Given the description of an element on the screen output the (x, y) to click on. 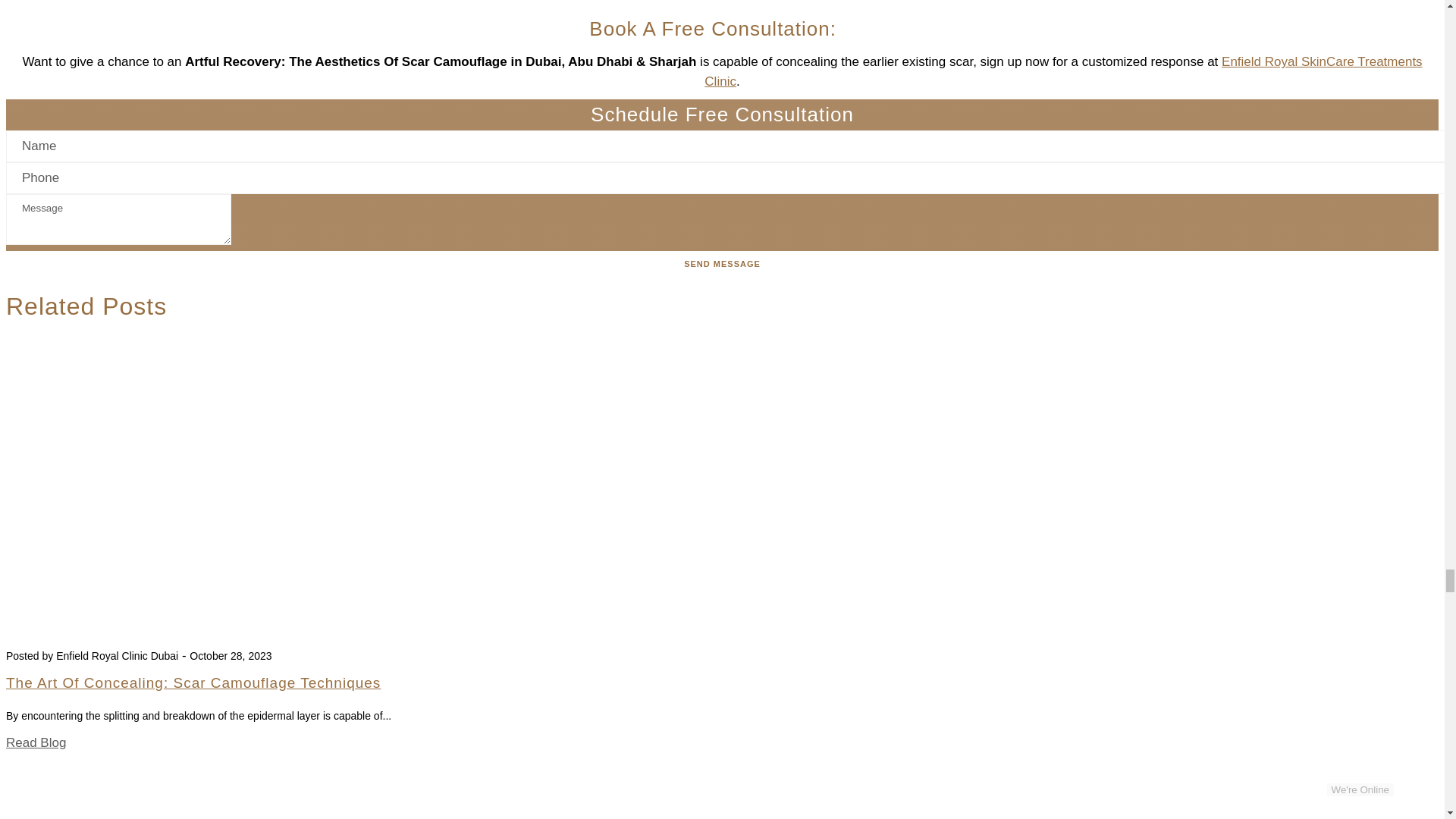
Send Message (721, 263)
